Given the description of an element on the screen output the (x, y) to click on. 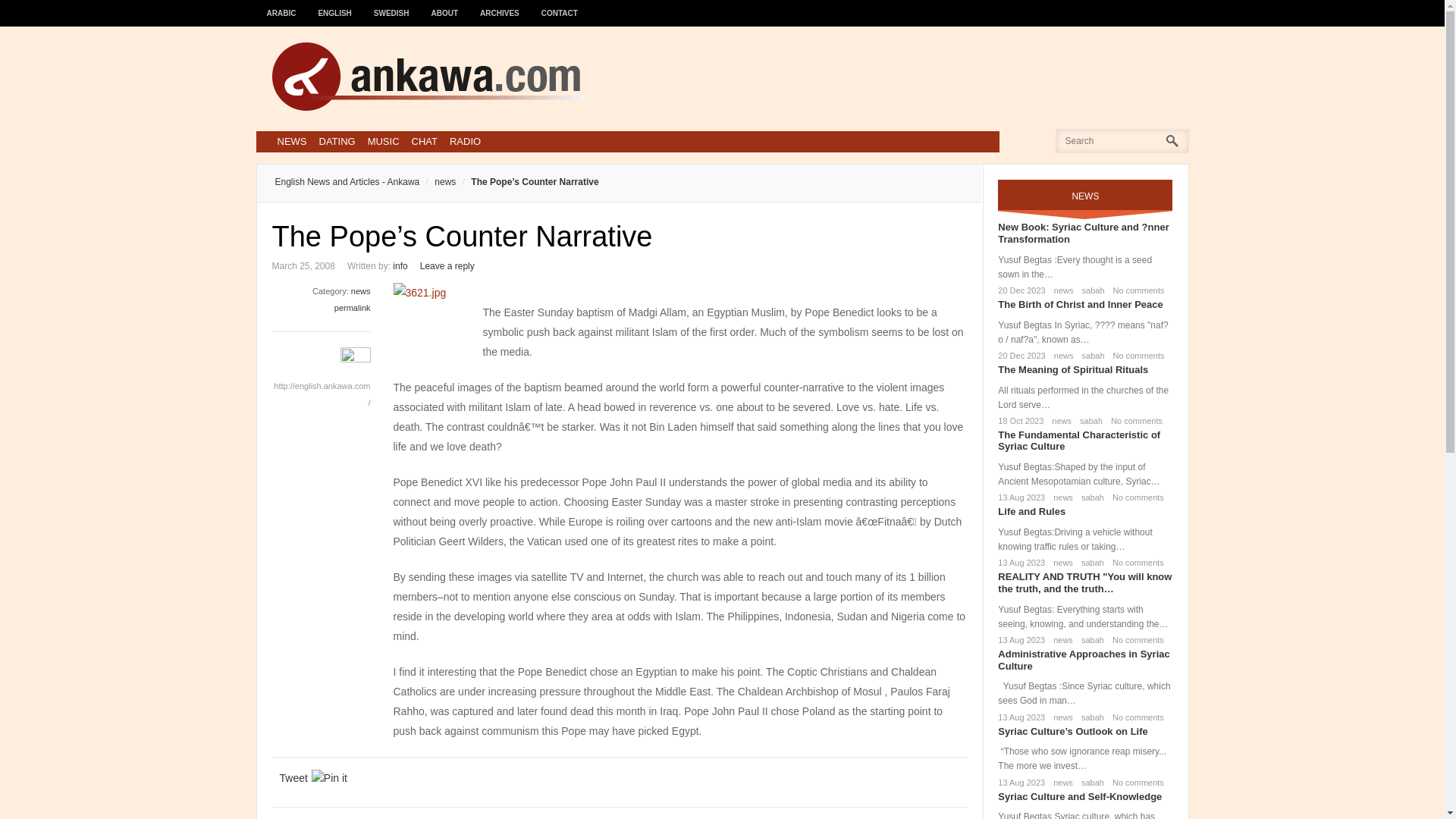
RADIO (465, 141)
The Fundamental Characteristic of Syriac Culture (1078, 440)
The Meaning of Spiritual Rituals (1072, 369)
Life and Rules (1031, 511)
MUSIC (383, 141)
SWEDISH (391, 5)
CHAT (425, 141)
No comments (1135, 355)
Pin it (329, 777)
New Book: Syriac Culture and ?nner Transformation (1083, 232)
